Given the description of an element on the screen output the (x, y) to click on. 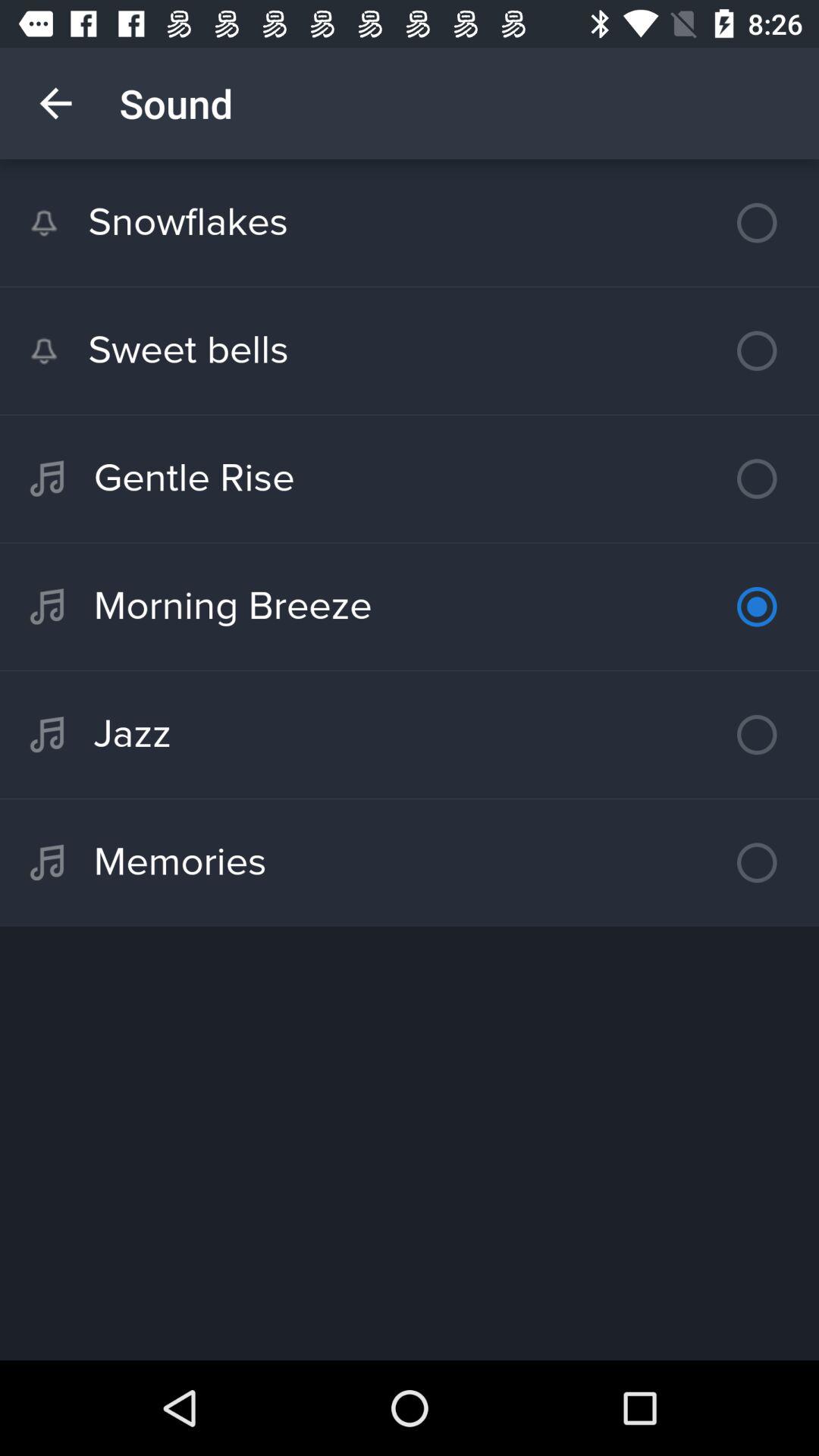
jump until sweet bells icon (409, 350)
